Given the description of an element on the screen output the (x, y) to click on. 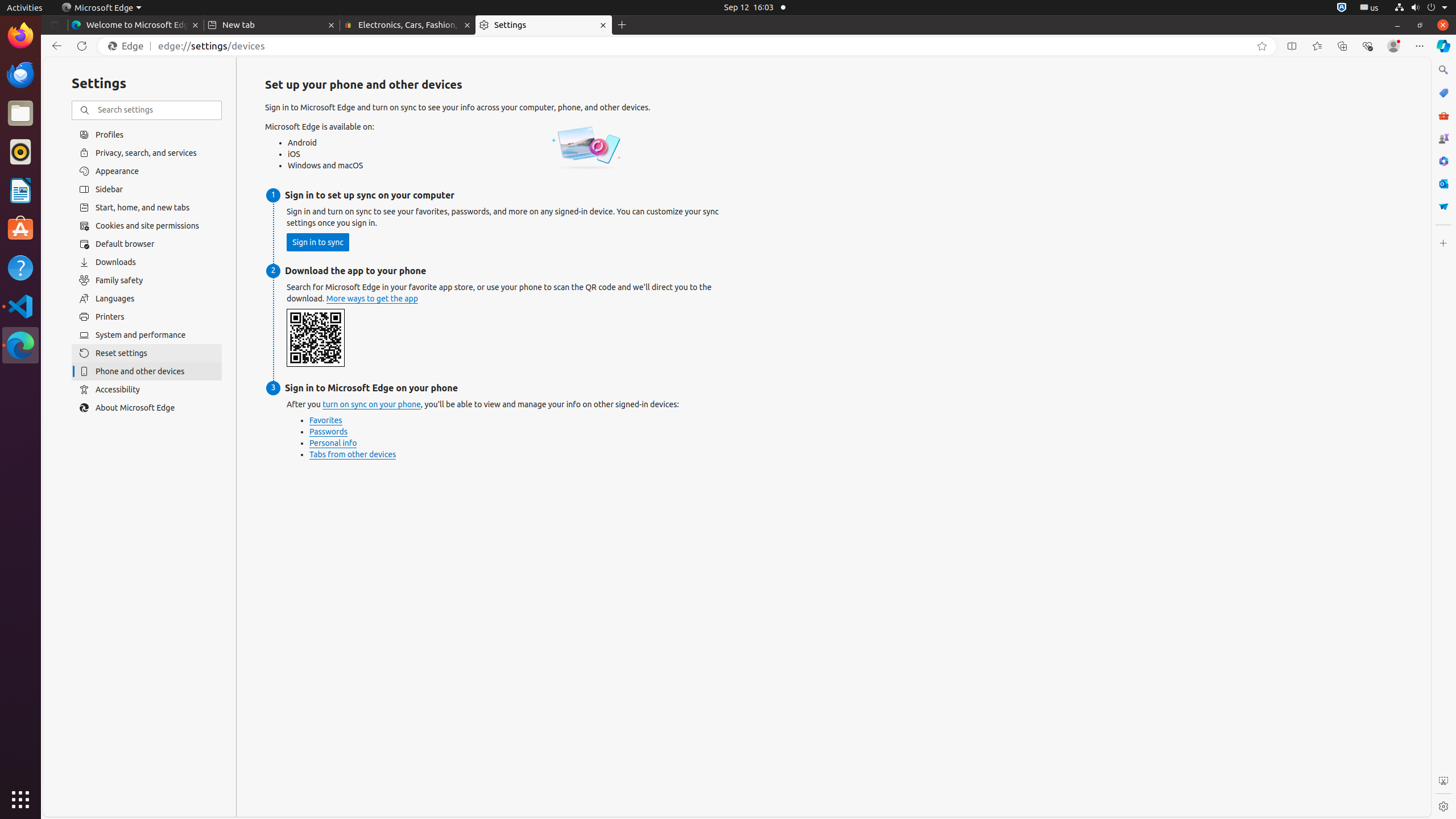
Privacy, search, and services Element type: tree-item (146, 152)
Files Element type: push-button (20, 113)
Drop Element type: push-button (1443, 206)
More ways to get the app Element type: link (371, 298)
Tools Element type: push-button (1443, 115)
